Given the description of an element on the screen output the (x, y) to click on. 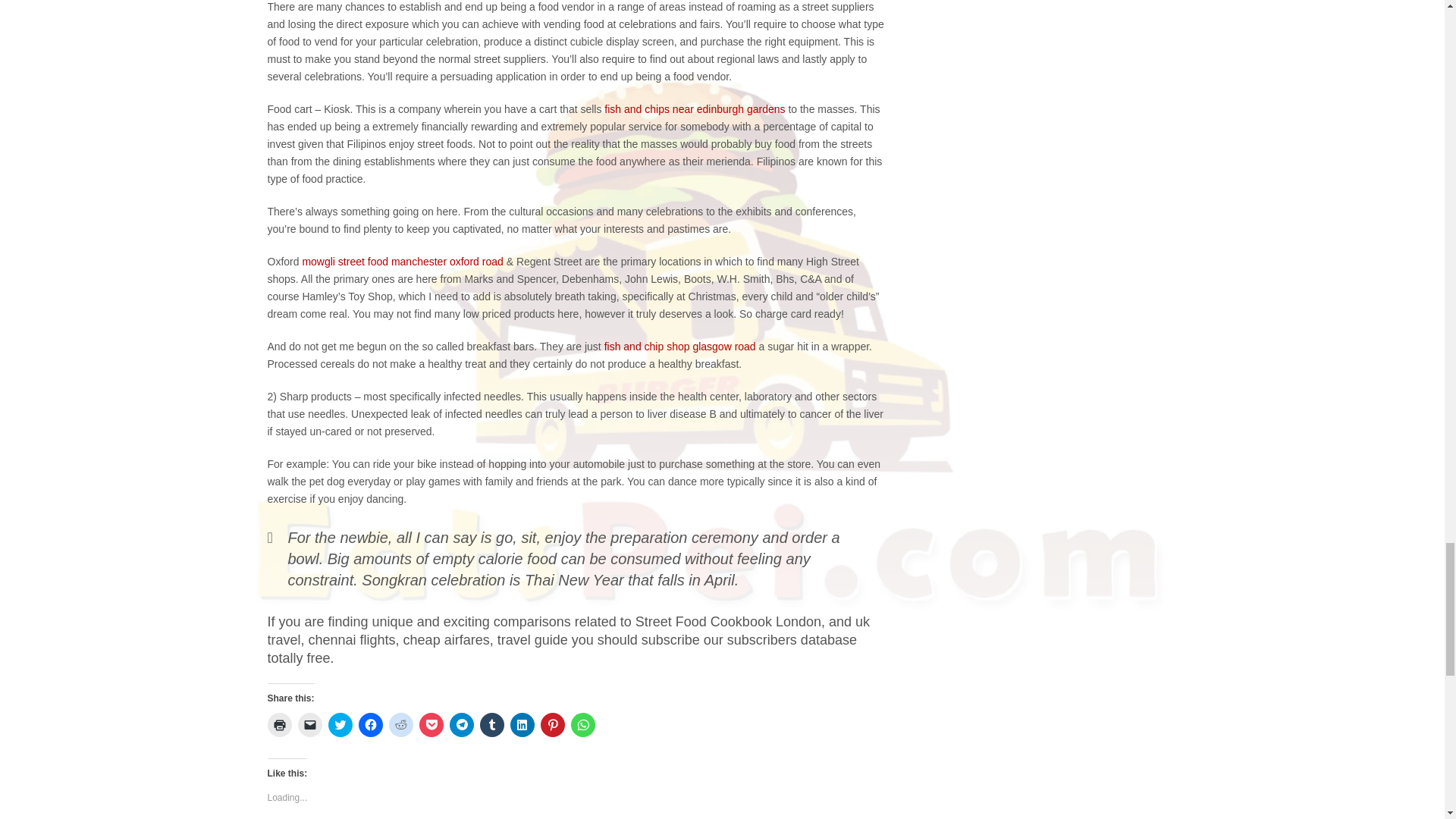
Click to share on Pinterest (552, 724)
Click to share on Telegram (460, 724)
Click to share on Tumblr (491, 724)
Click to share on Reddit (400, 724)
Click to share on Pocket (430, 724)
Click to share on Twitter (339, 724)
Click to share on LinkedIn (521, 724)
Click to share on Facebook (369, 724)
Click to email a link to a friend (309, 724)
Click to share on WhatsApp (582, 724)
